Given the description of an element on the screen output the (x, y) to click on. 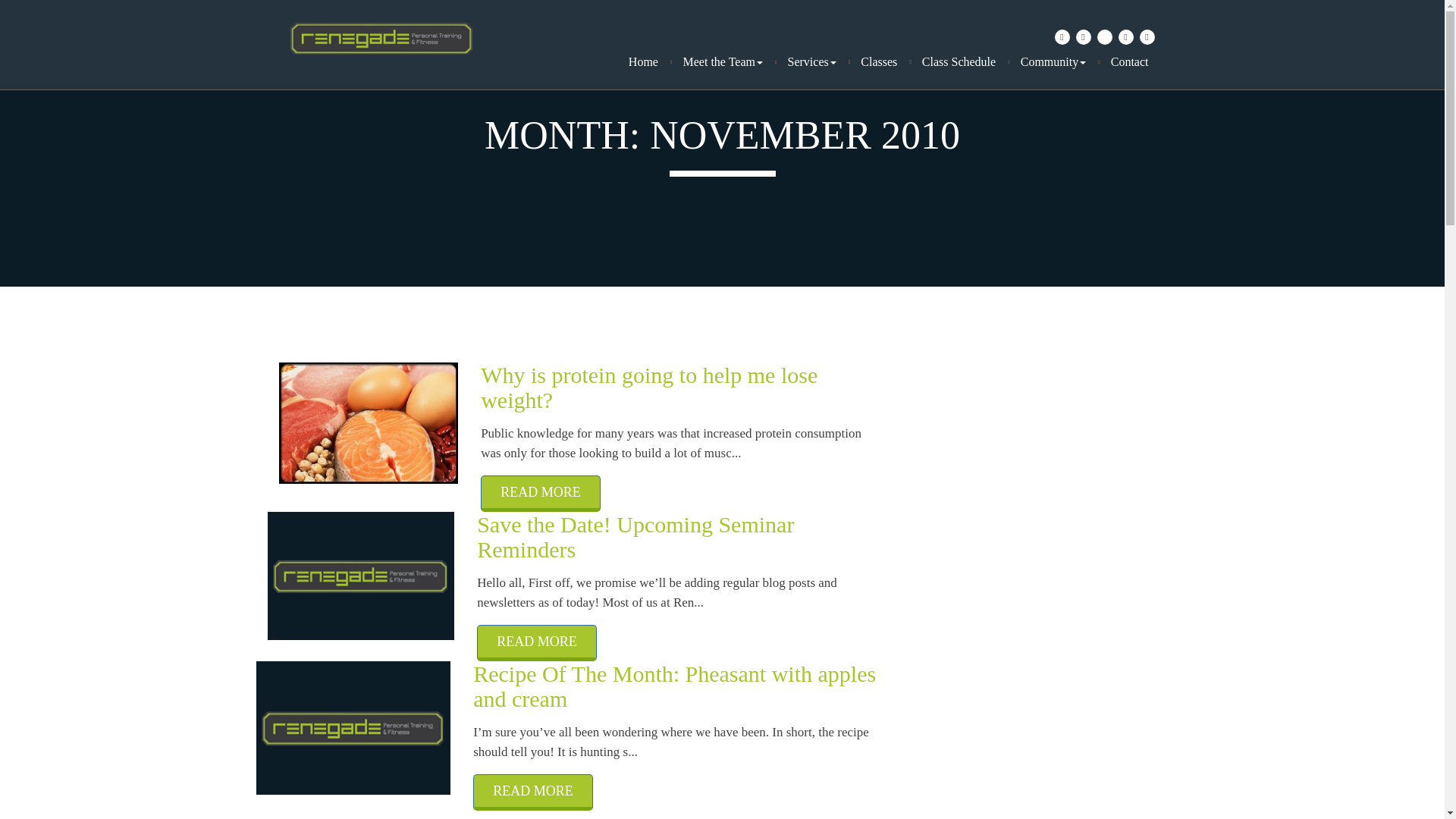
Community (1059, 61)
READ MORE (539, 493)
Class Schedule (965, 61)
Home (650, 61)
Recipe Of The Month: Pheasant with apples and cream (679, 685)
READ MORE (536, 642)
Services (819, 61)
Meet the Team (730, 61)
Why is protein going to help me lose weight? (670, 387)
Contact (1129, 61)
